Given the description of an element on the screen output the (x, y) to click on. 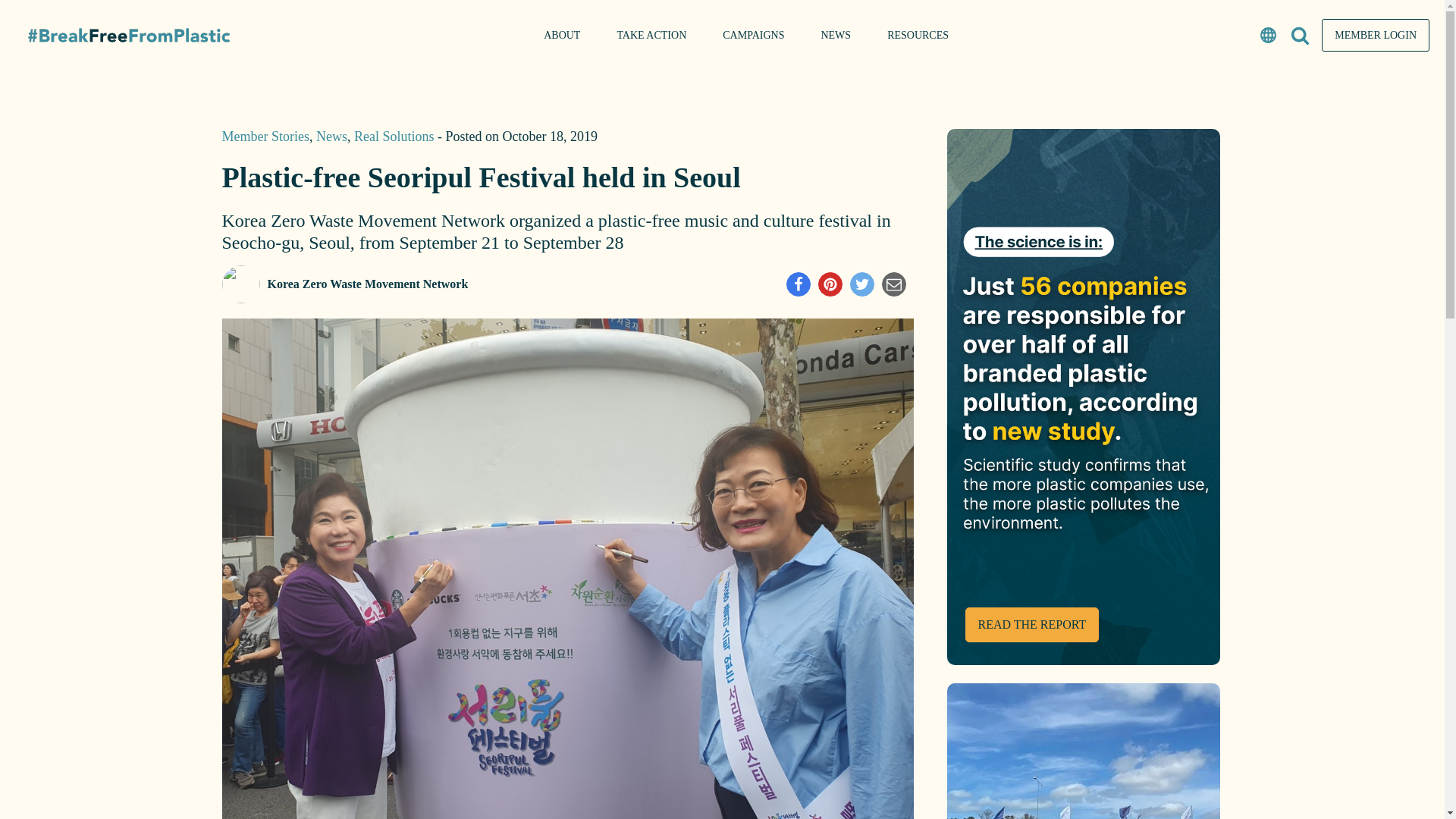
RESOURCES (917, 35)
ABOUT (561, 35)
TAKE ACTION (651, 35)
Member Stories (264, 136)
CAMPAIGNS (753, 35)
MEMBER LOGIN (1375, 34)
Real Solutions (393, 136)
NEWS (835, 35)
News (331, 136)
